Given the description of an element on the screen output the (x, y) to click on. 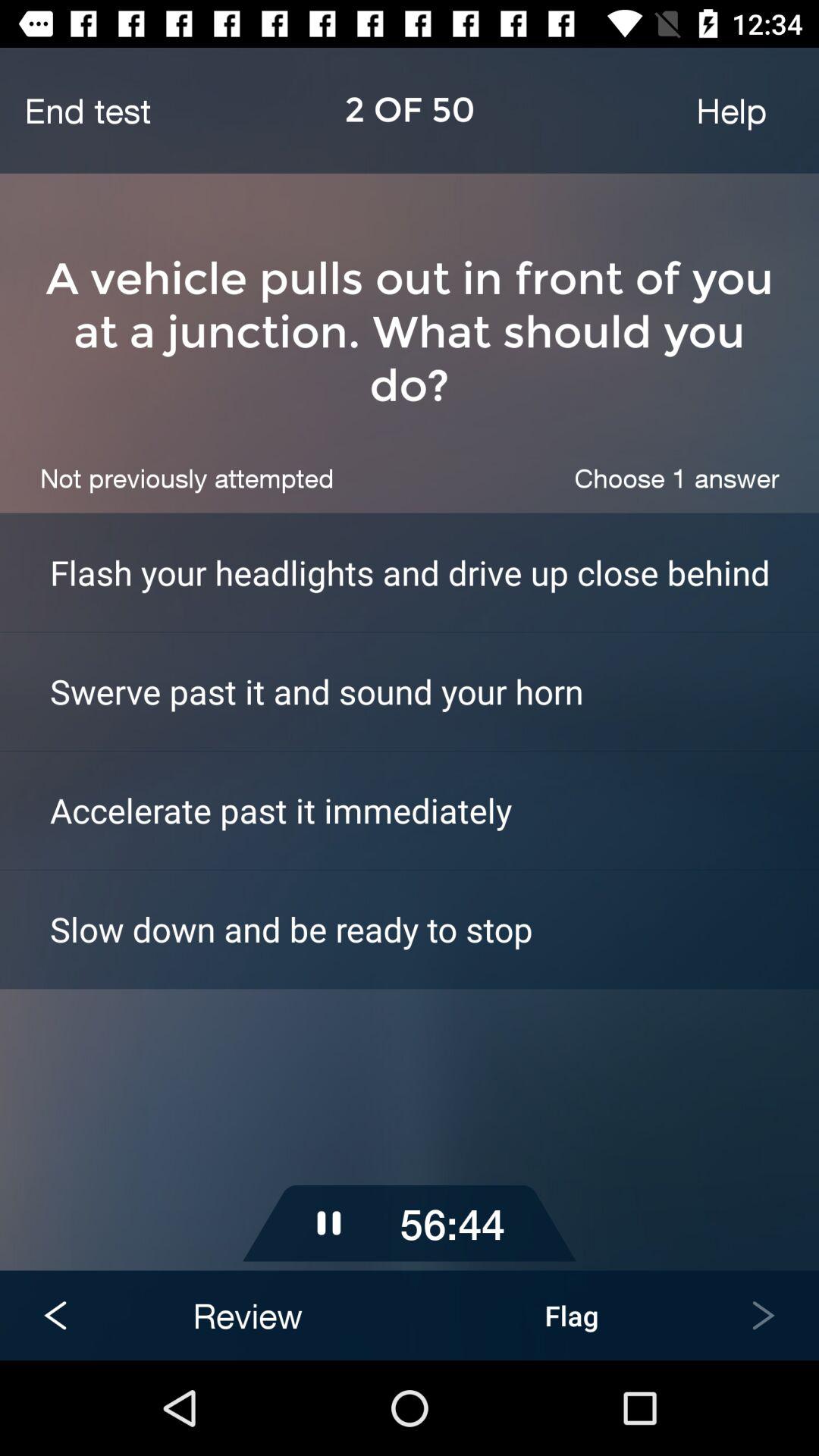
tap the item next to end test icon (731, 110)
